Given the description of an element on the screen output the (x, y) to click on. 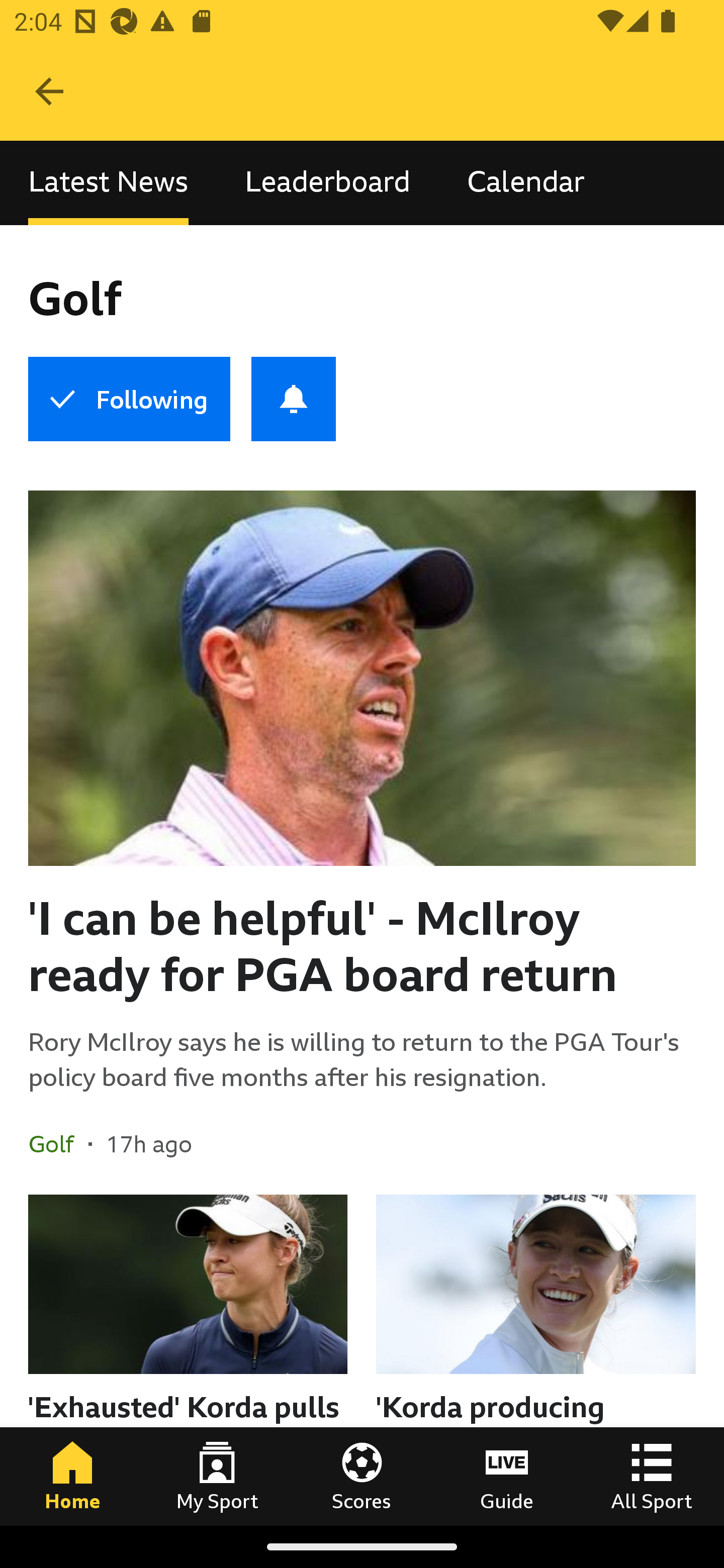
Navigate up (49, 91)
Latest News, selected Latest News (108, 183)
Leaderboard (327, 183)
Calendar (525, 183)
Following Golf Following (129, 398)
Push notifications for Golf (293, 398)
My Sport (216, 1475)
Scores (361, 1475)
Guide (506, 1475)
All Sport (651, 1475)
